Given the description of an element on the screen output the (x, y) to click on. 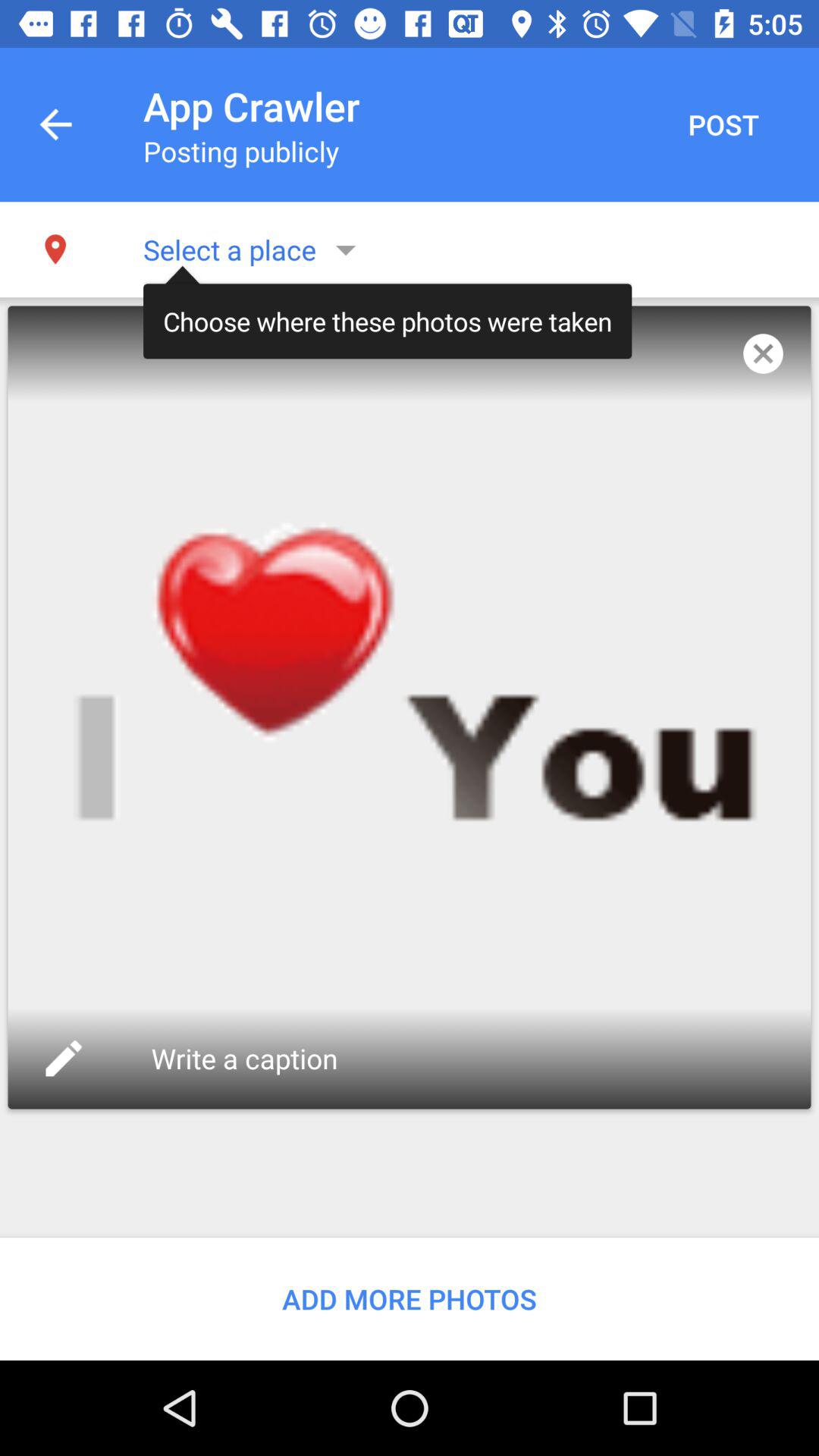
choose add more photos app (409, 1298)
